Given the description of an element on the screen output the (x, y) to click on. 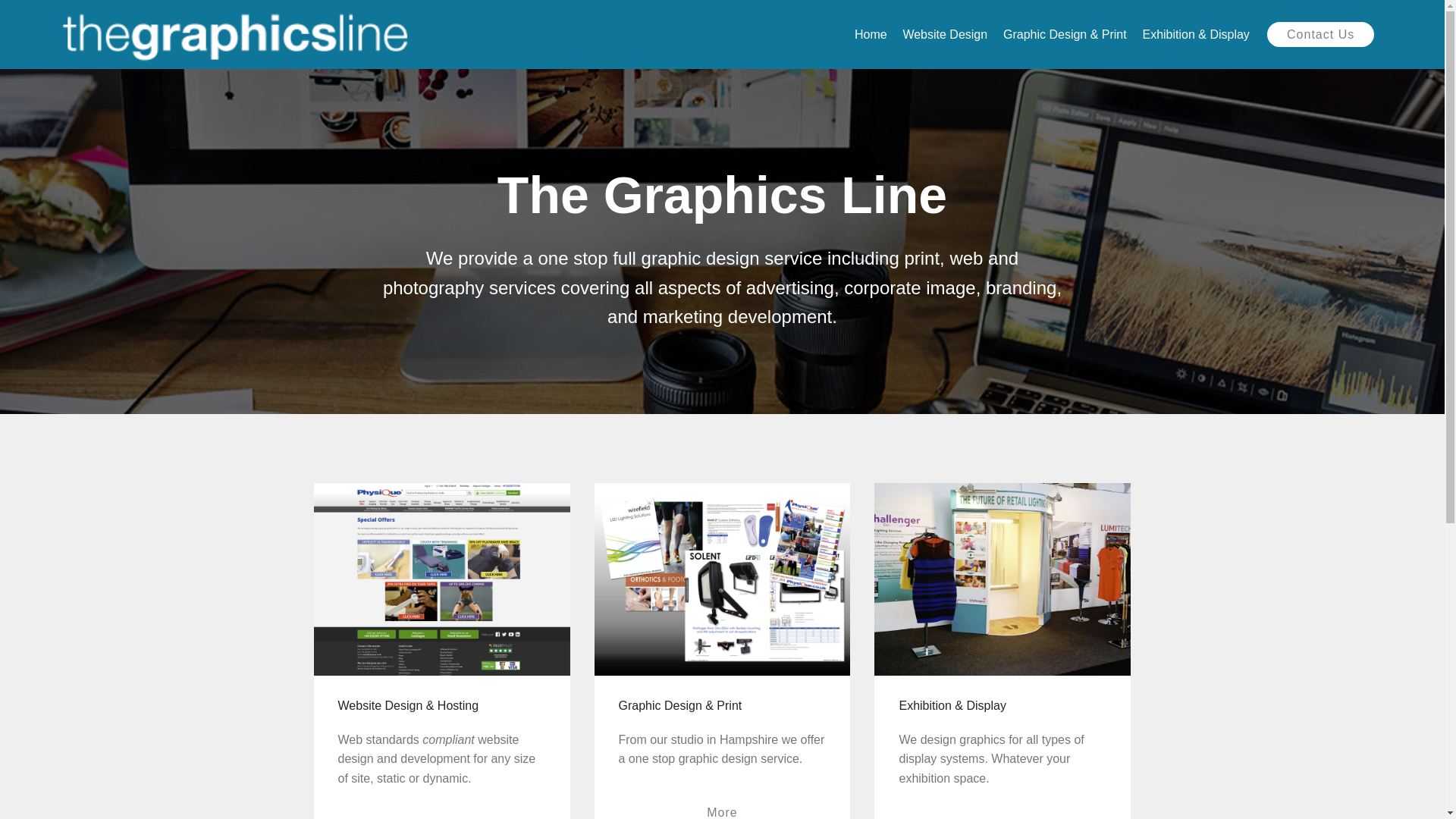
Home (870, 33)
More (441, 815)
Contact Us (1320, 34)
More (1002, 815)
Website Design (944, 33)
More (721, 806)
